Given the description of an element on the screen output the (x, y) to click on. 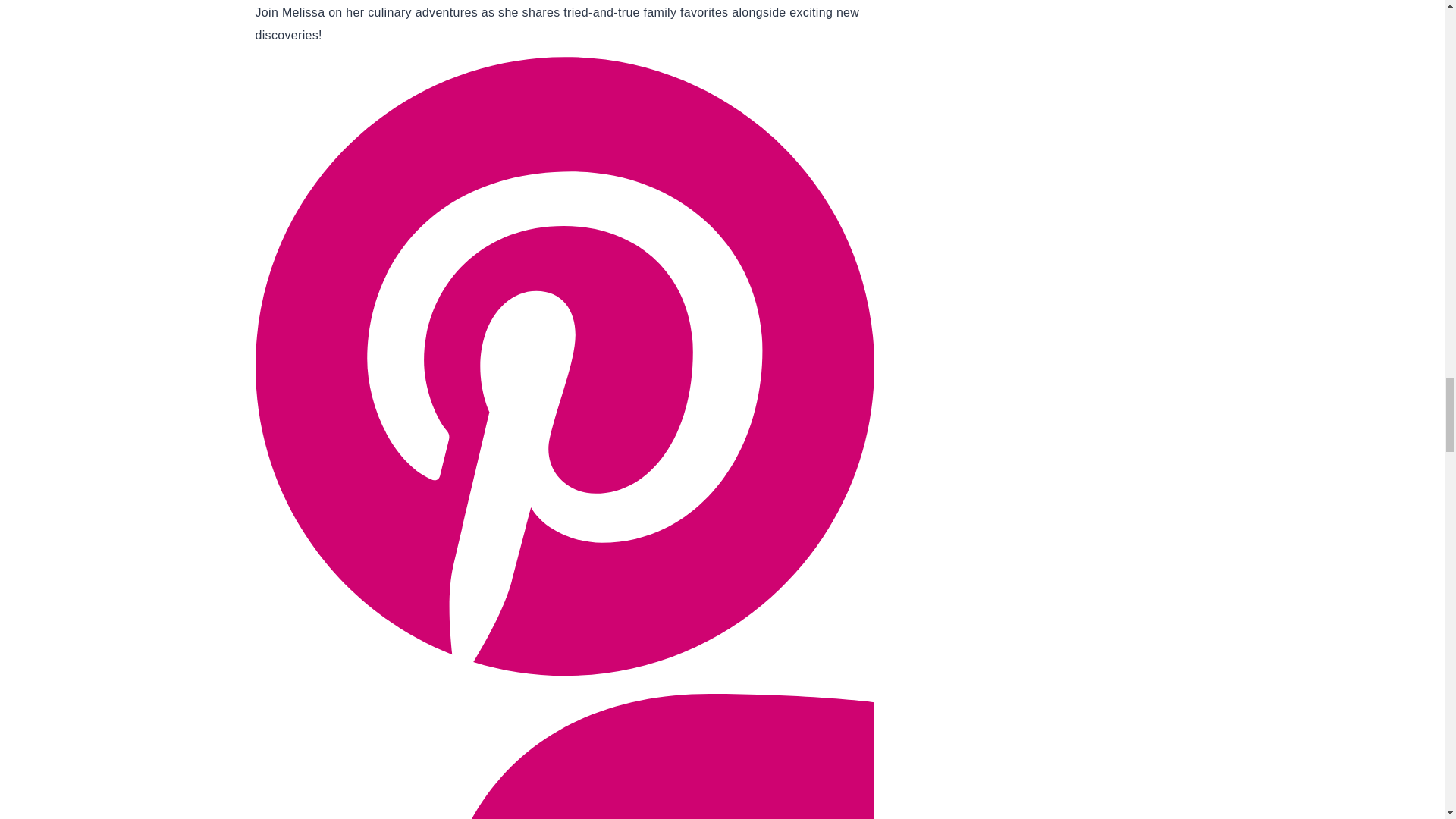
Pinterest (563, 681)
